Given the description of an element on the screen output the (x, y) to click on. 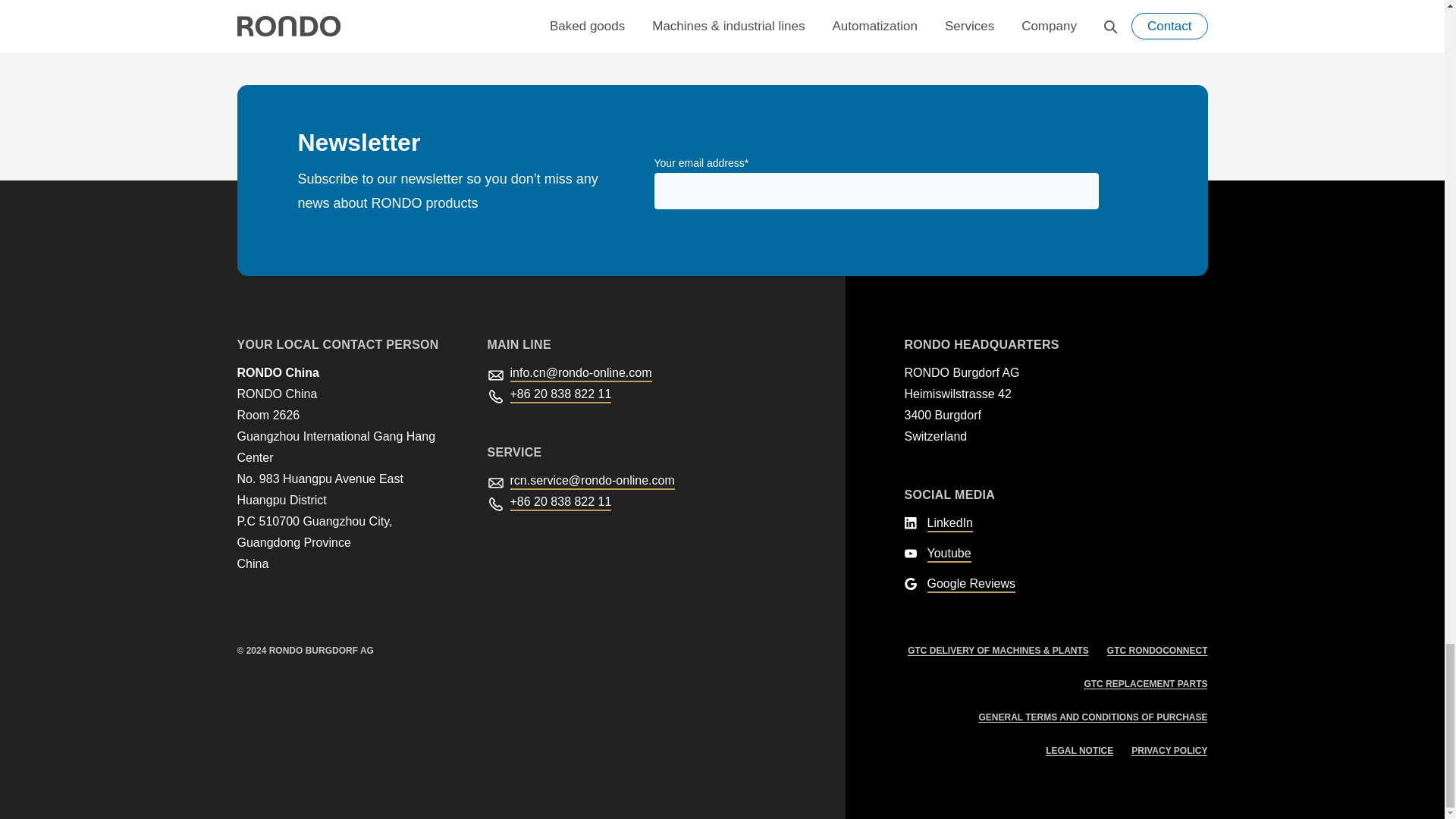
GTC RONDOconnect (1157, 650)
Legal notice (1079, 750)
Privacy policy (1169, 750)
General Terms and Conditions of Purchase (1092, 716)
GTC replacement kits (1145, 683)
